Given the description of an element on the screen output the (x, y) to click on. 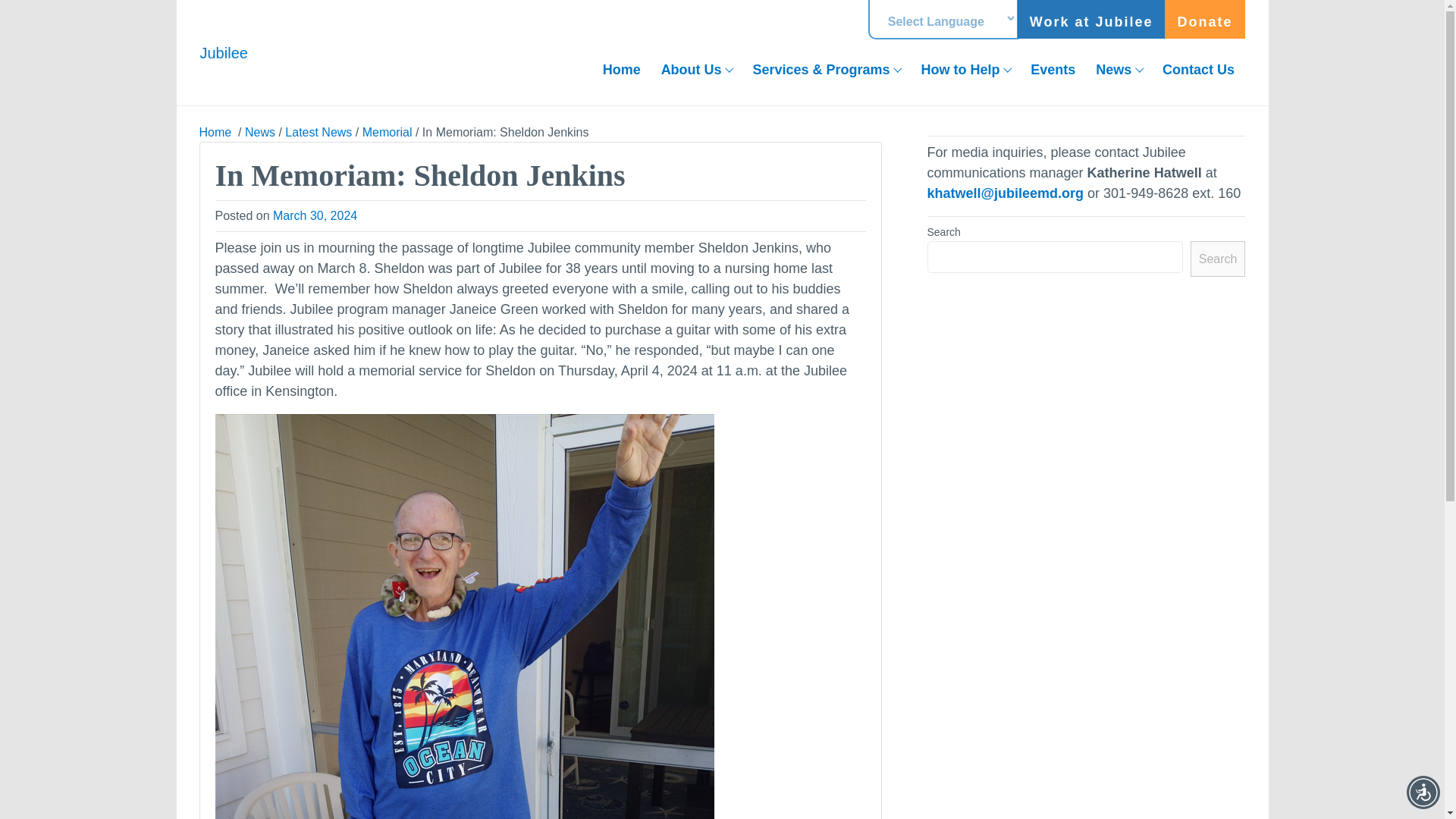
News (1119, 69)
Home (216, 132)
Accessibility Menu (1422, 792)
About Us (696, 69)
How to Help (965, 69)
Events (1053, 69)
March 30, 2024 (314, 215)
Work at Jubilee (1091, 19)
About Us (696, 69)
Jubilee (223, 52)
Latest News (318, 132)
Jubilee (223, 52)
Home (621, 69)
Contact Us (1198, 69)
